Given the description of an element on the screen output the (x, y) to click on. 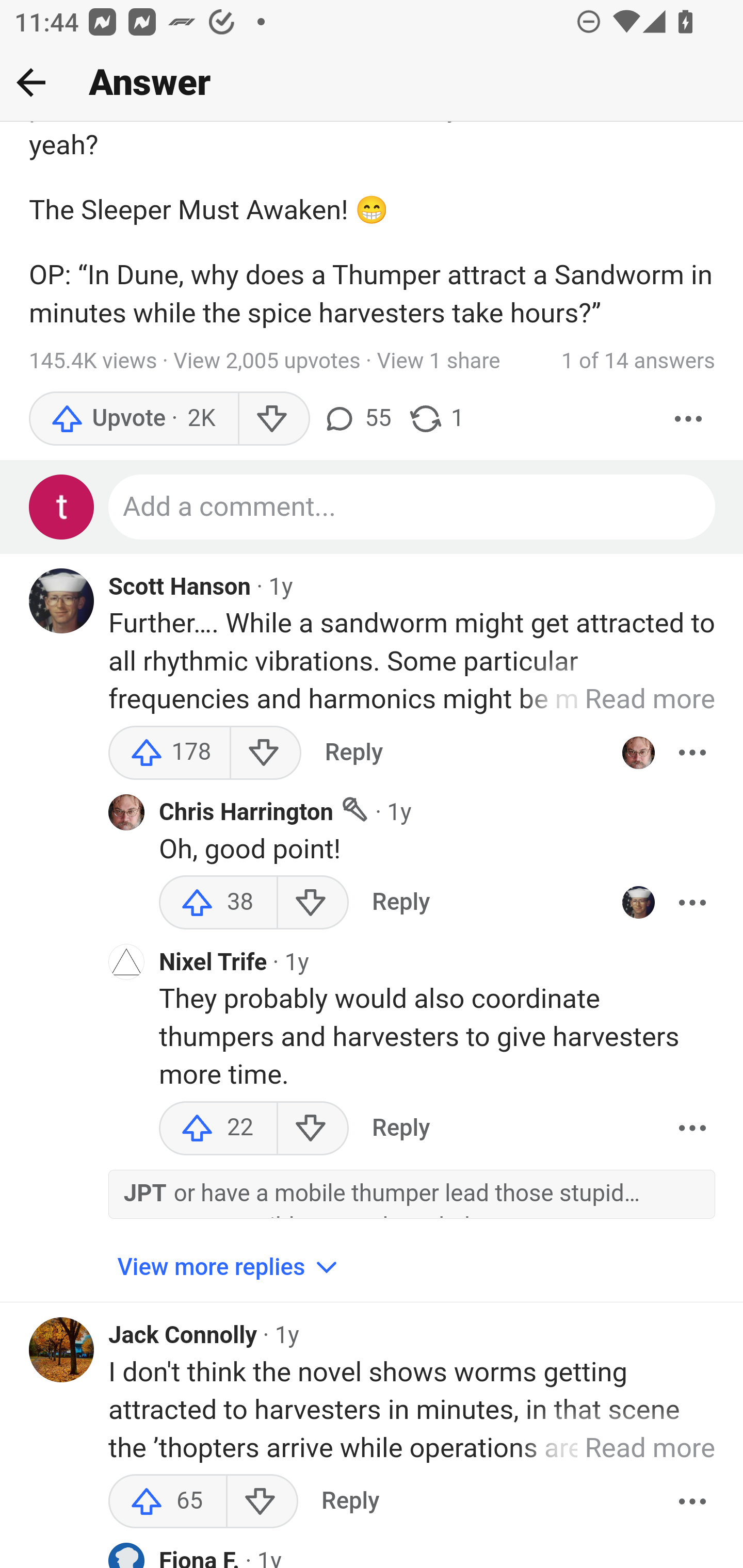
Me Home Search Add (371, 82)
Back (30, 82)
View 2,005 upvotes (267, 362)
View 1 share (438, 362)
1 of 14 answers (637, 362)
Profile photo for Test Appium (61, 508)
Add a comment... (412, 508)
Profile photo for Scott Hanson (61, 602)
Scott Hanson (180, 587)
1y 1 y (280, 587)
178 upvotes (169, 753)
Downvote (263, 753)
Reply (353, 753)
Profile photo for Chris Harrington (638, 753)
More (691, 753)
Profile photo for Chris Harrington (126, 812)
Chris Harrington (246, 813)
1y 1 y (399, 813)
38 upvotes (218, 903)
Downvote (312, 903)
Reply (400, 903)
Profile photo for Scott Hanson (638, 903)
More (691, 903)
Profile photo for Nixel Trife (126, 964)
Nixel Trife (213, 964)
1y 1 y (296, 962)
22 upvotes (218, 1128)
Downvote (312, 1128)
Reply (400, 1128)
More (691, 1128)
View more replies (230, 1269)
View more replies (230, 1268)
Profile photo for Jack Connolly (61, 1349)
Jack Connolly (182, 1337)
1y 1 y (286, 1336)
65 upvotes (167, 1502)
Downvote (261, 1502)
Reply (350, 1502)
More (691, 1502)
Profile photo for Fiona F. (126, 1555)
Fiona F. (199, 1556)
1y 1 y (268, 1557)
